Given the description of an element on the screen output the (x, y) to click on. 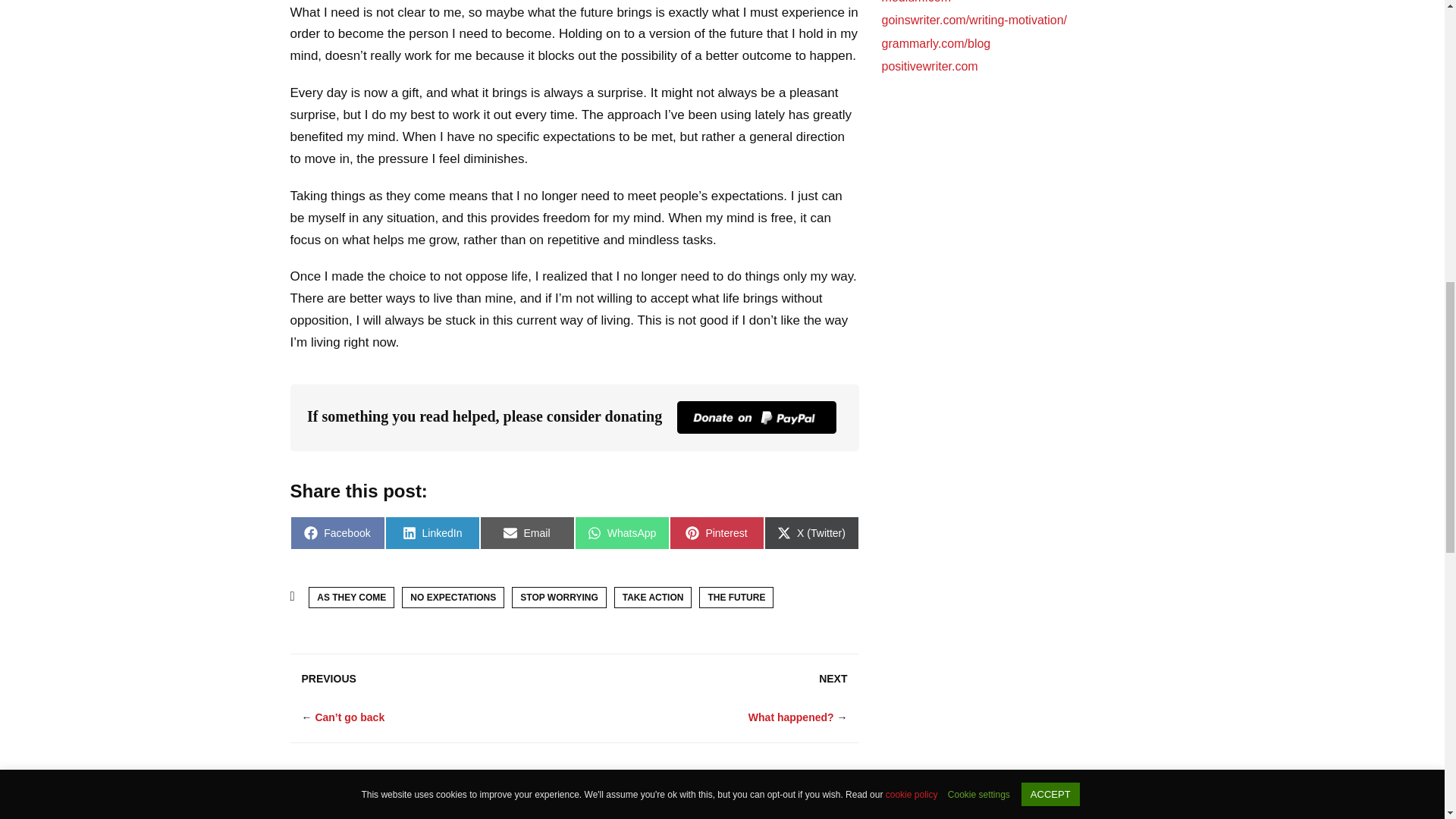
TAKE ACTION (653, 597)
Facebook (336, 532)
WhatsApp (622, 532)
THE FUTURE (735, 597)
Email (526, 532)
AS THEY COME (351, 597)
NO EXPECTATIONS (452, 597)
Pinterest (715, 532)
STOP WORRYING (558, 597)
LinkedIn (432, 532)
